Given the description of an element on the screen output the (x, y) to click on. 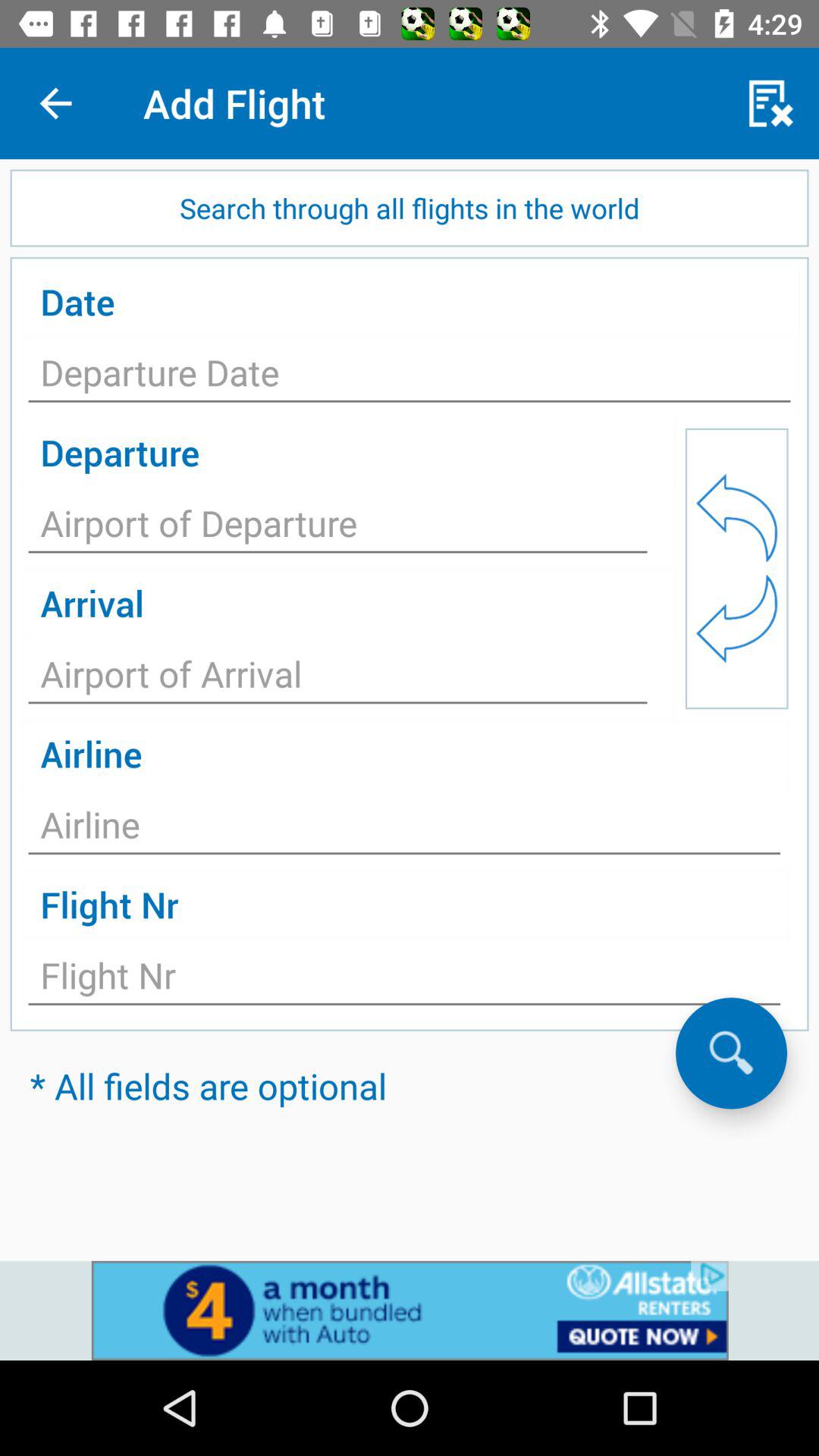
insert flight number (404, 979)
